Given the description of an element on the screen output the (x, y) to click on. 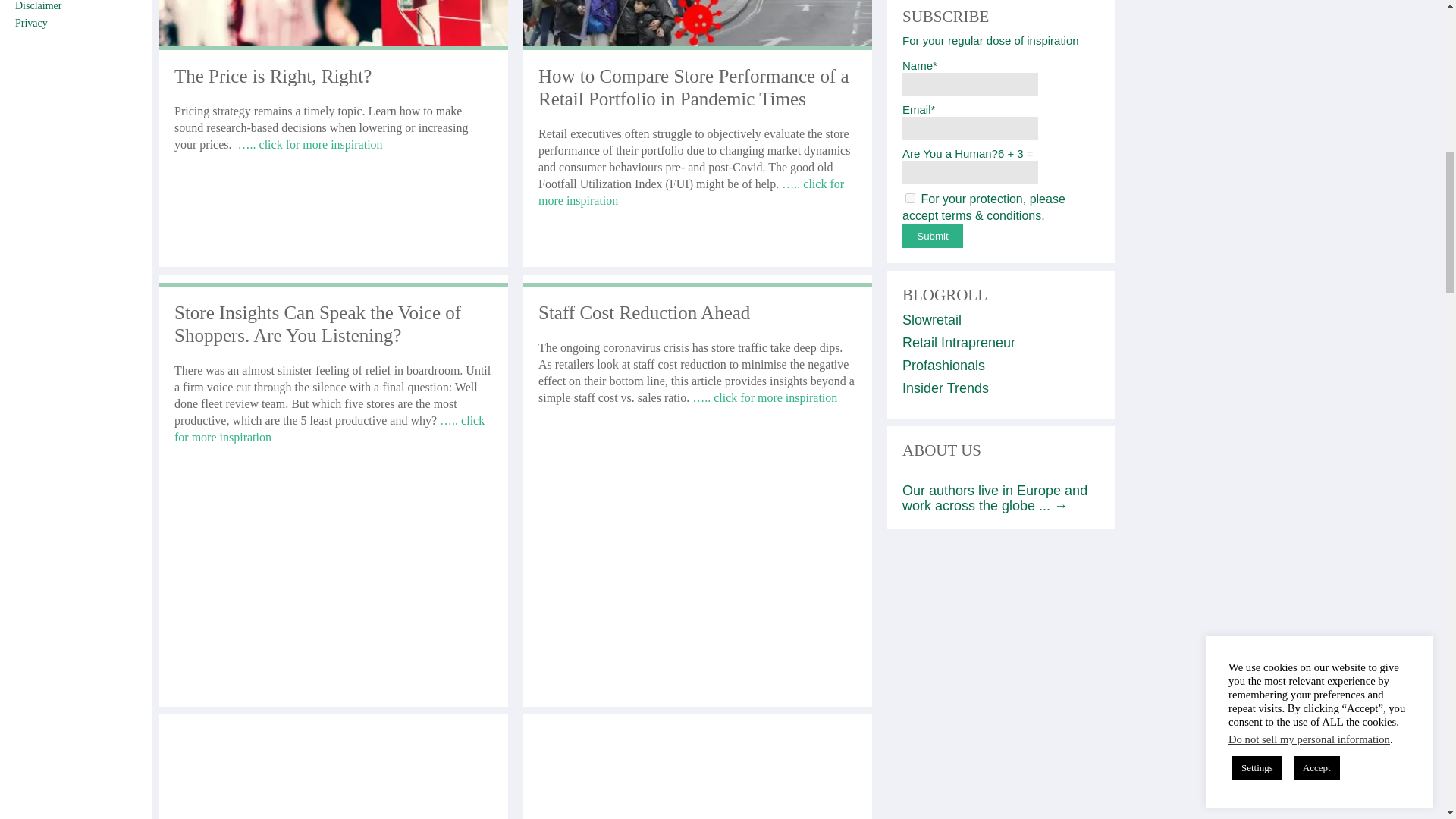
The Price is Right, Right? (272, 76)
The Price is Right, Right? (308, 144)
Privacy (31, 22)
Disclaimer (37, 5)
true (910, 198)
The Price is Right, Right? (333, 43)
Submit (932, 236)
